Given the description of an element on the screen output the (x, y) to click on. 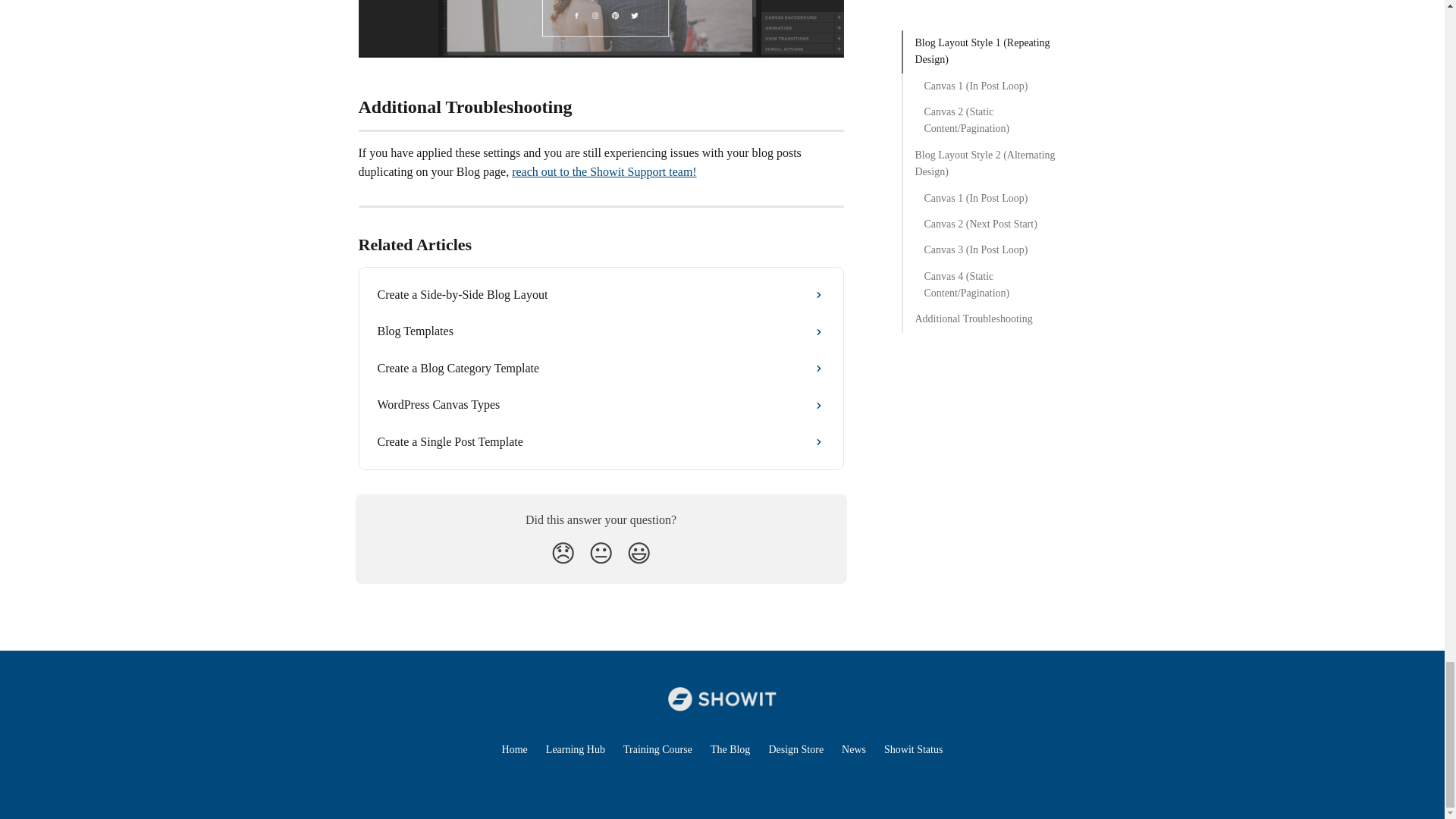
Smiley (638, 553)
Disappointed (562, 553)
Neutral (600, 553)
